Given the description of an element on the screen output the (x, y) to click on. 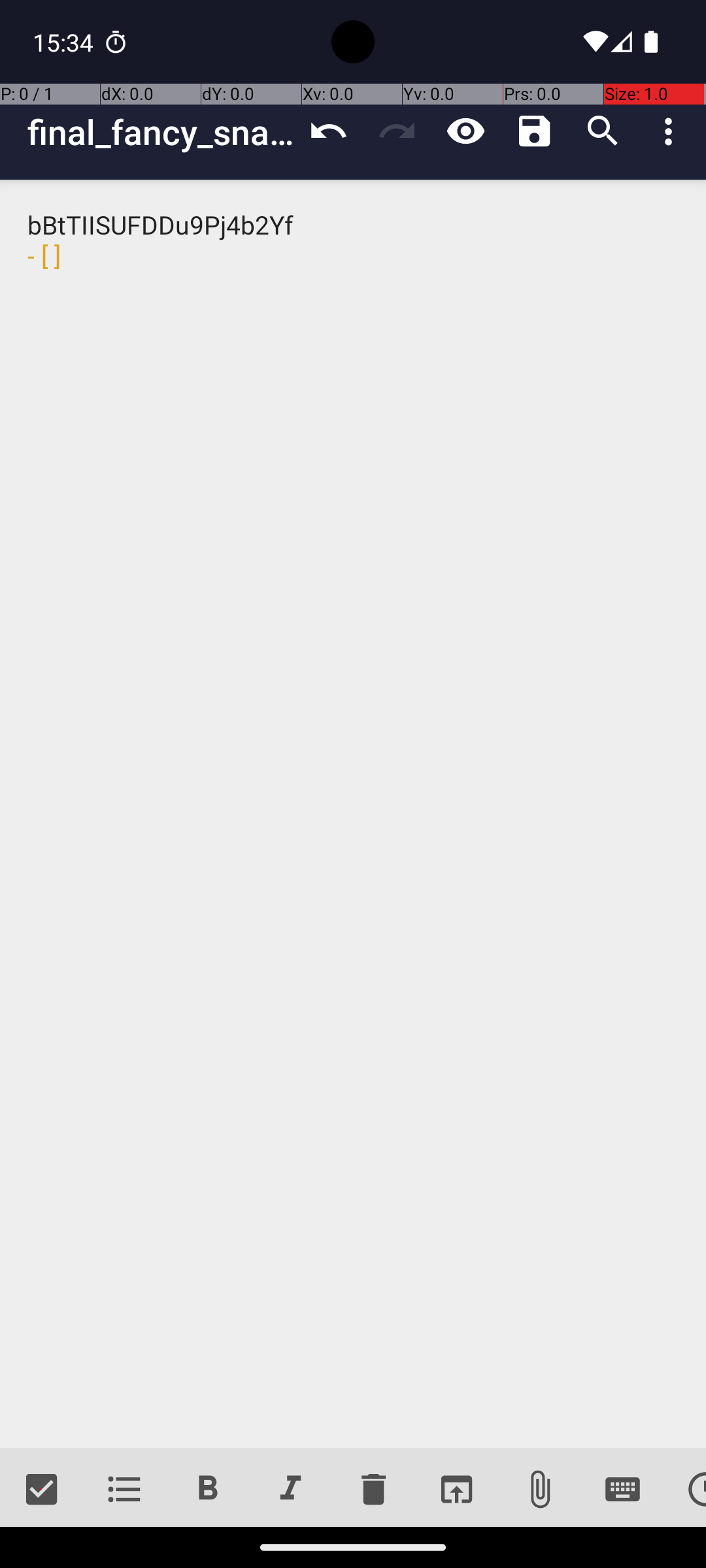
final_fancy_snake Element type: android.widget.TextView (160, 131)
bBtTIISUFDDu9Pj4b2Yf
 Element type: android.widget.EditText (353, 813)
